Given the description of an element on the screen output the (x, y) to click on. 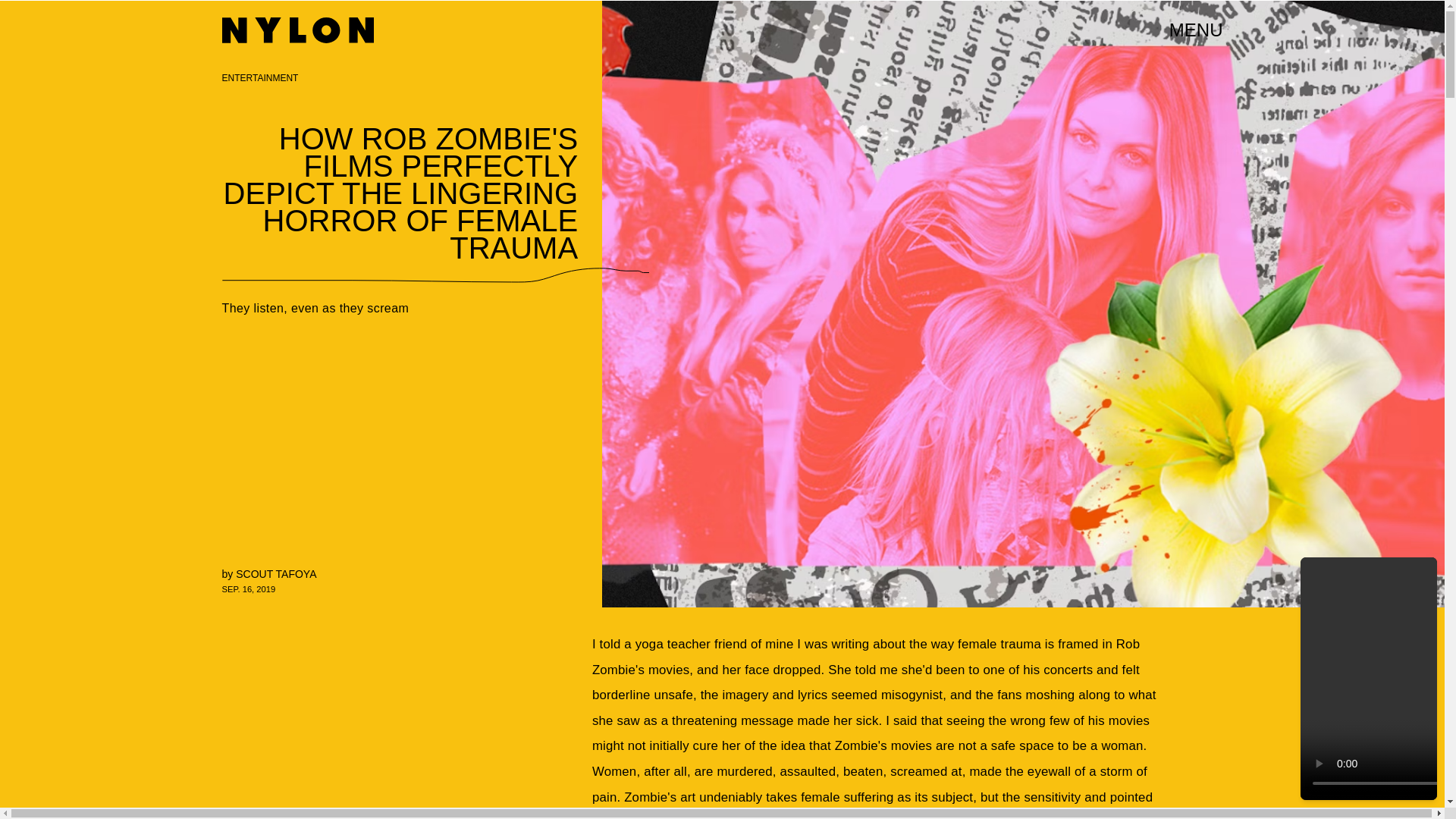
Nylon (296, 30)
